Given the description of an element on the screen output the (x, y) to click on. 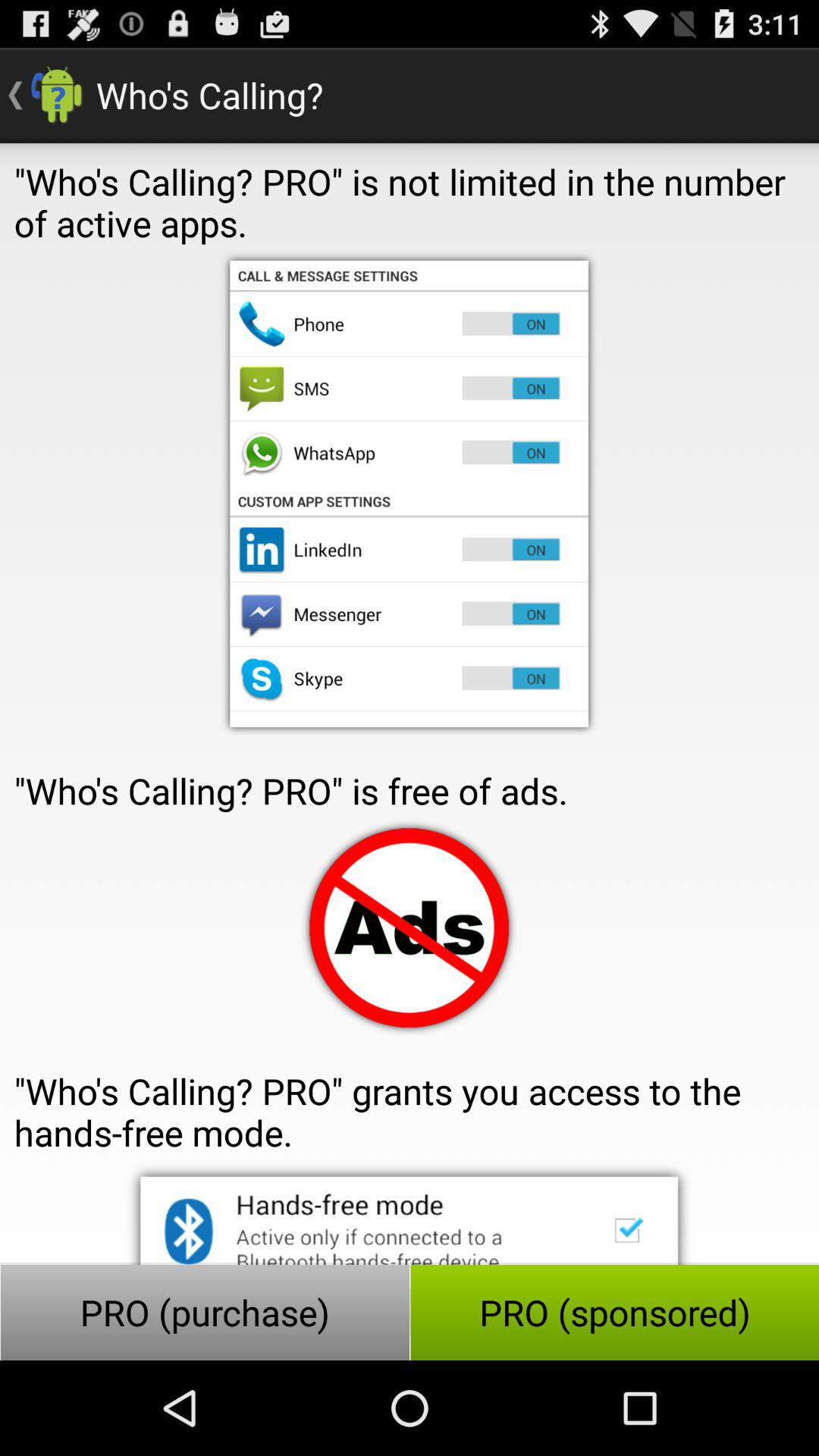
choose button to the left of the pro (sponsored) icon (204, 1312)
